Given the description of an element on the screen output the (x, y) to click on. 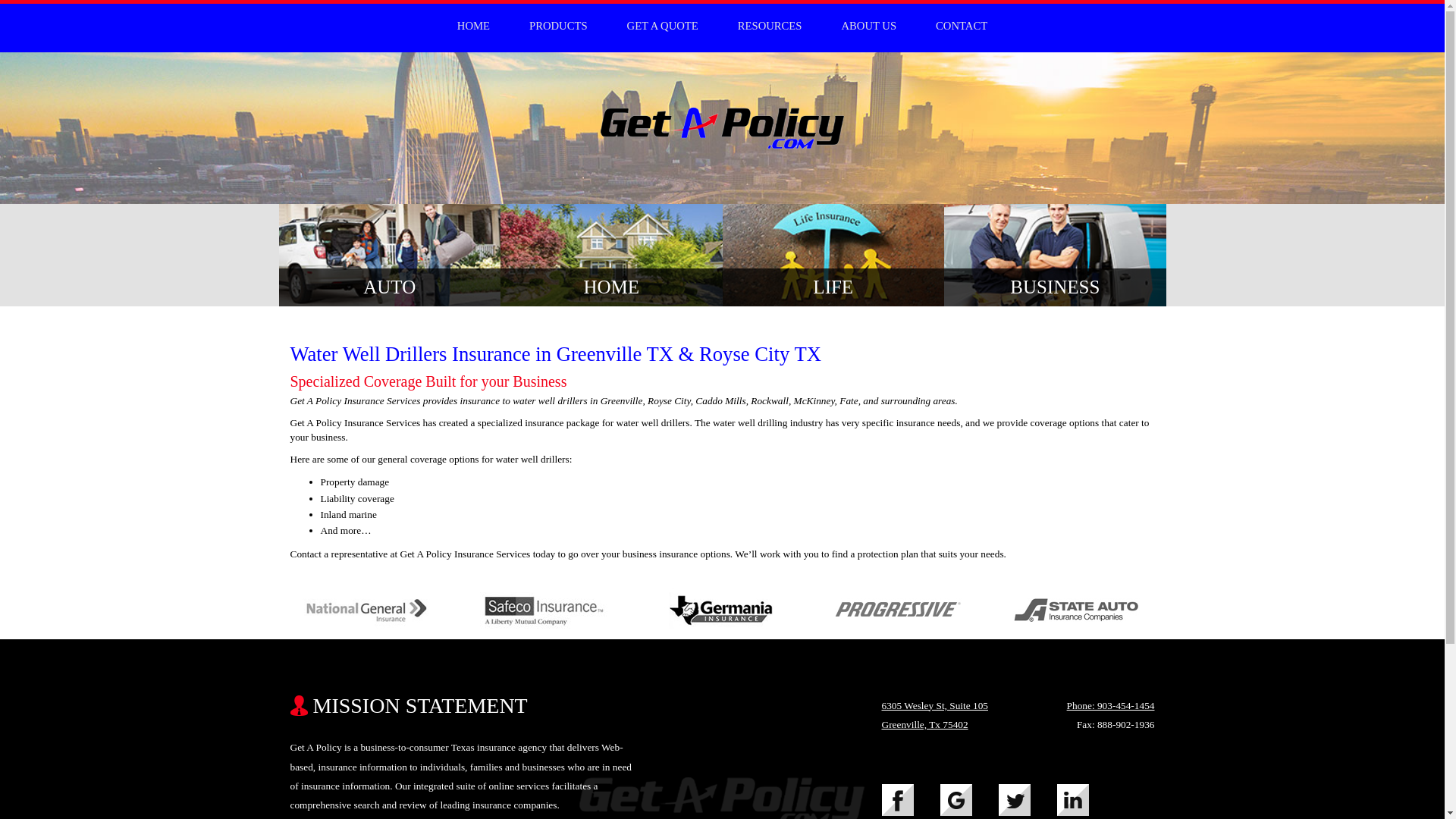
HOME (473, 25)
PRODUCTS (559, 25)
